Given the description of an element on the screen output the (x, y) to click on. 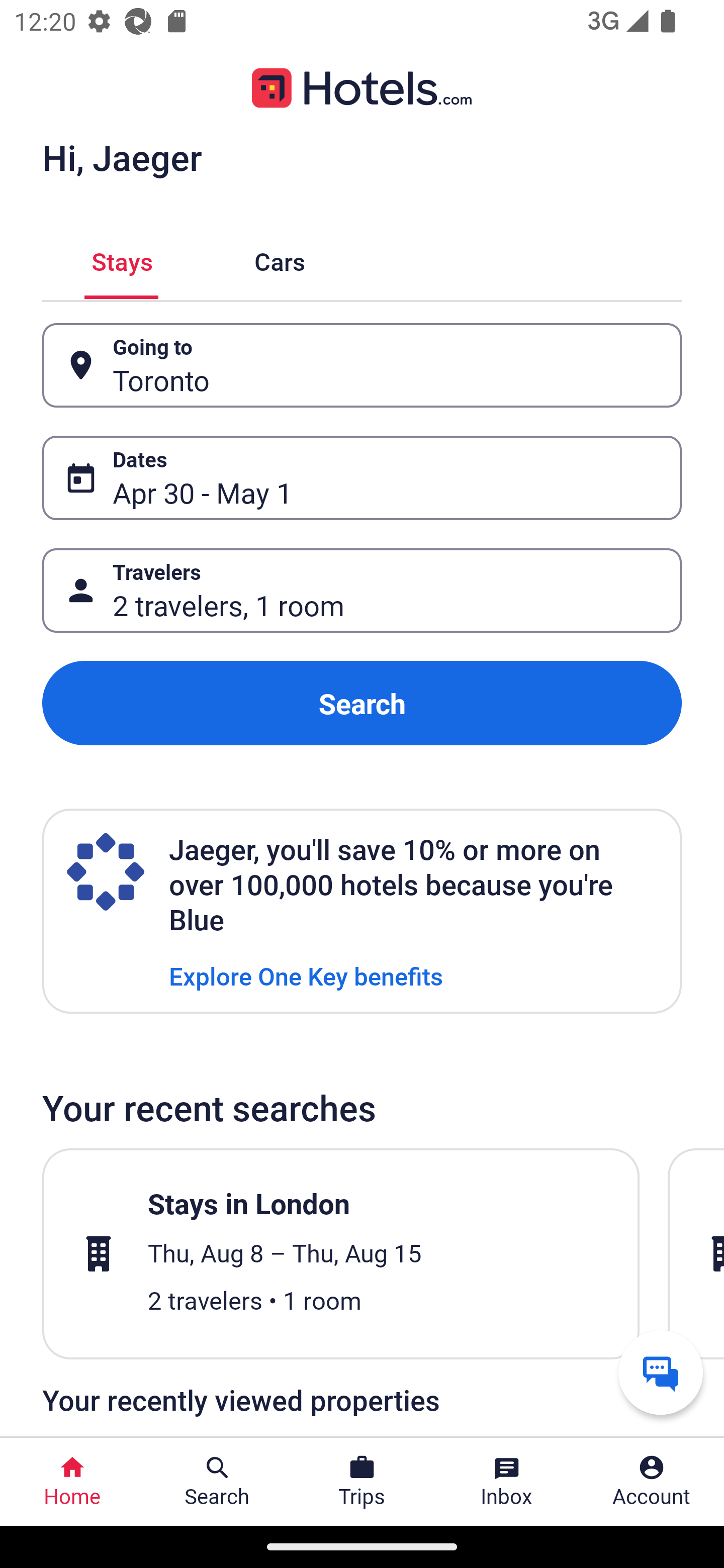
Hi, Jaeger (121, 156)
Cars (279, 259)
Going to Button Toronto (361, 365)
Dates Button Apr 30 - May 1 (361, 477)
Travelers Button 2 travelers, 1 room (361, 590)
Search (361, 702)
Get help from a virtual agent (660, 1371)
Search Search Button (216, 1481)
Trips Trips Button (361, 1481)
Inbox Inbox Button (506, 1481)
Account Profile. Button (651, 1481)
